Given the description of an element on the screen output the (x, y) to click on. 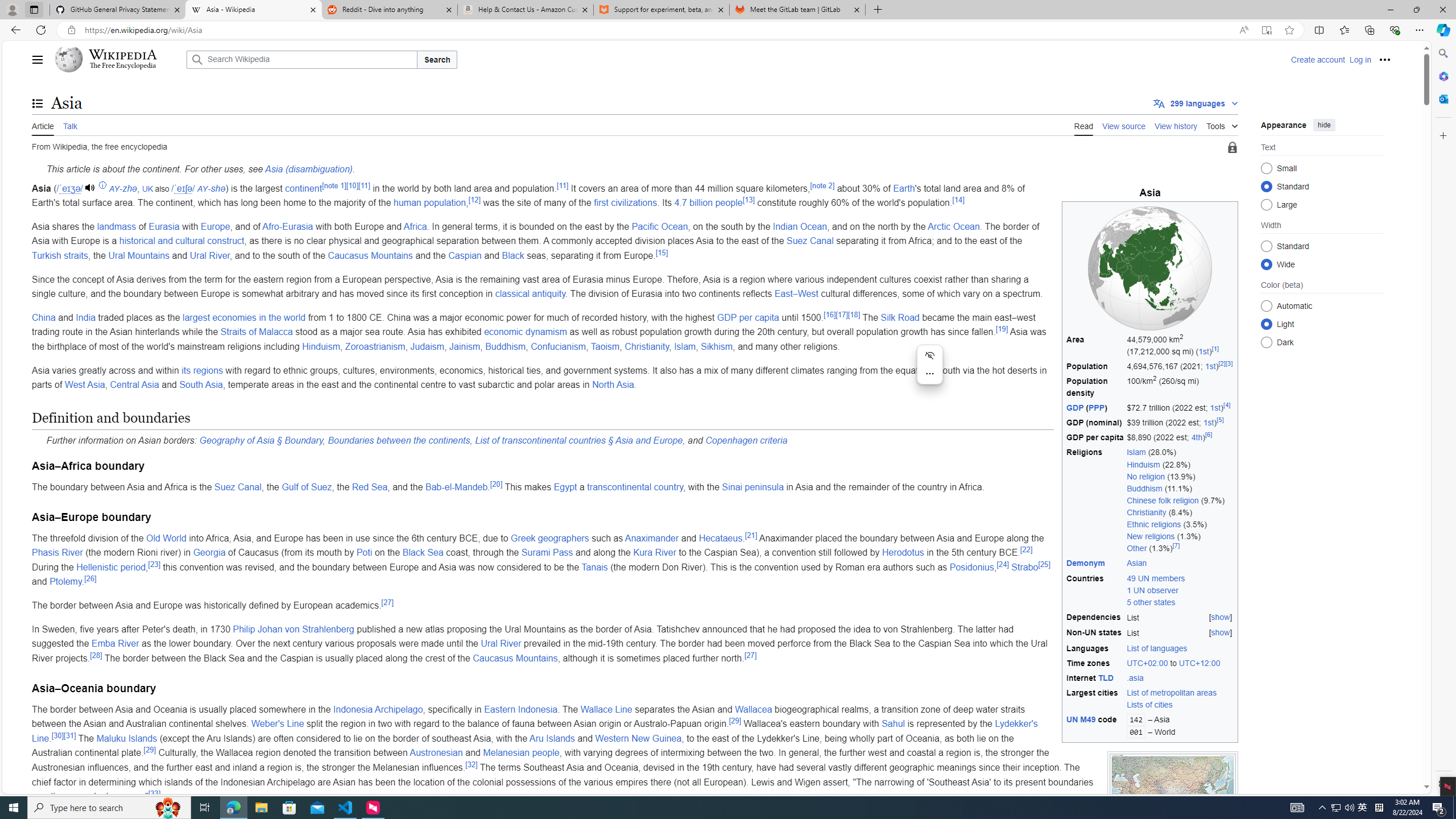
Dependencies (1095, 617)
Phasis River (57, 552)
Reddit - Dive into anything (390, 9)
human population (429, 203)
Silk Road (900, 317)
Caucasus Mountains (515, 657)
Old World (165, 537)
More actions (929, 373)
UK (146, 188)
Austronesian (436, 752)
Anaximander (651, 537)
4.7 billion people (708, 203)
Talk (69, 124)
Log in (1360, 58)
